Given the description of an element on the screen output the (x, y) to click on. 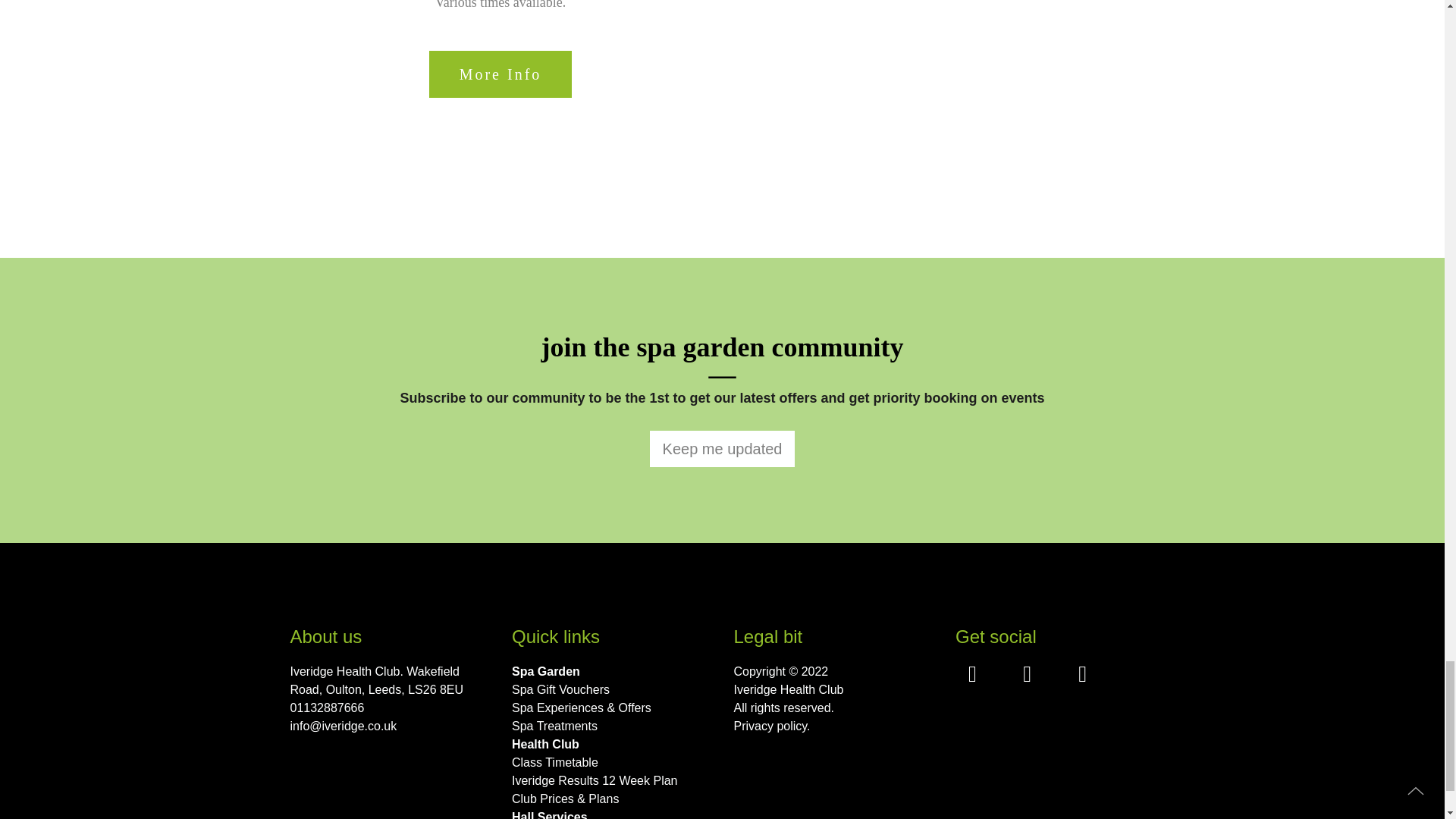
Spa Garden (611, 671)
01132887666 (389, 708)
Class Timetable (611, 762)
Iveridge Health Club (833, 689)
Spa Gift Vouchers (611, 689)
Keep me updated (721, 448)
Iveridge Results 12 Week Plan (611, 781)
More Info (500, 73)
Spa Treatments (611, 726)
